Given the description of an element on the screen output the (x, y) to click on. 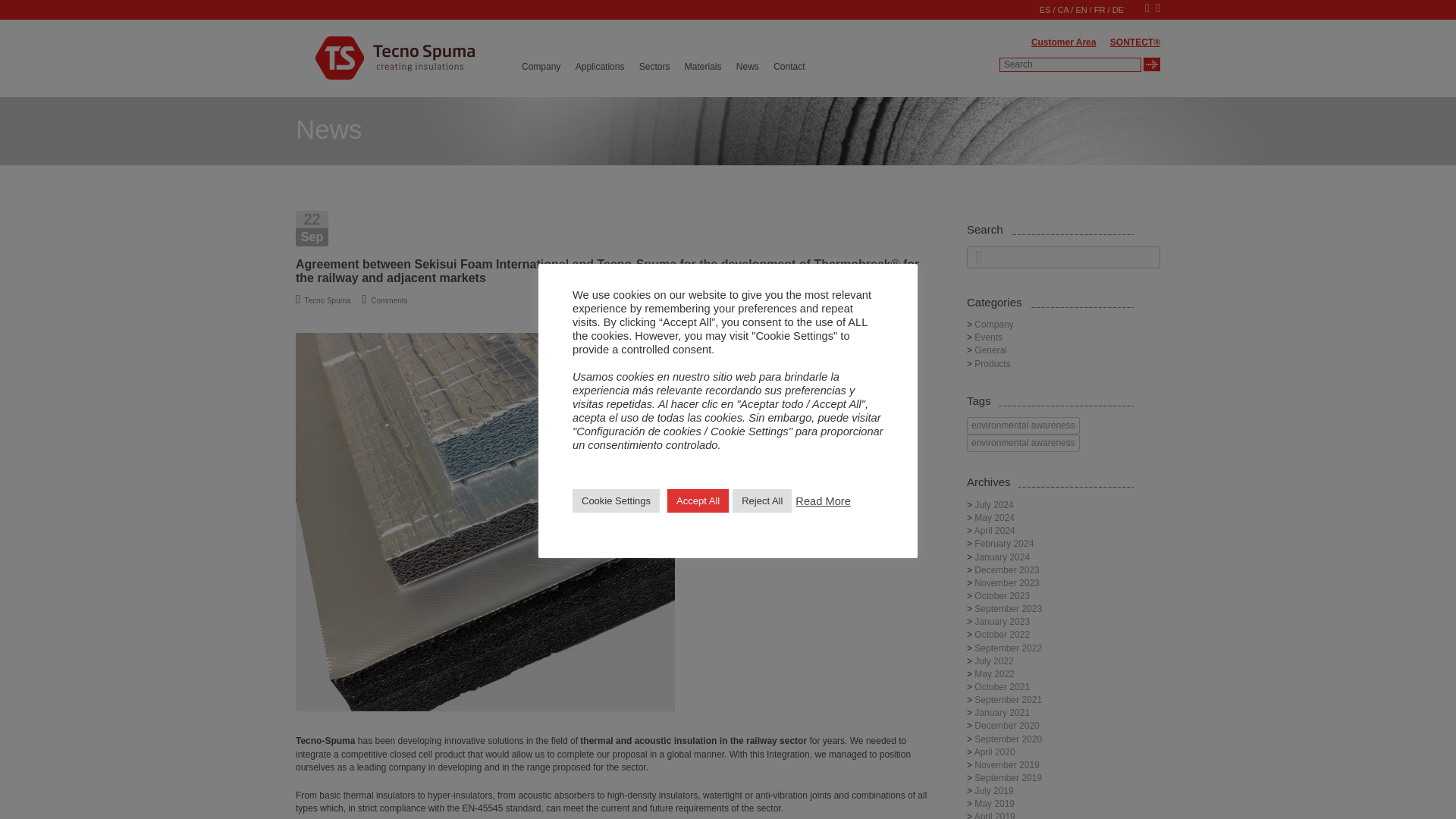
December 2023 (1006, 570)
DE (1118, 9)
EN (1080, 9)
CA (1063, 9)
Applications (599, 66)
ES (1045, 9)
Products (992, 363)
Materials (703, 66)
January 2024 (1001, 557)
Sectors (654, 66)
